Given the description of an element on the screen output the (x, y) to click on. 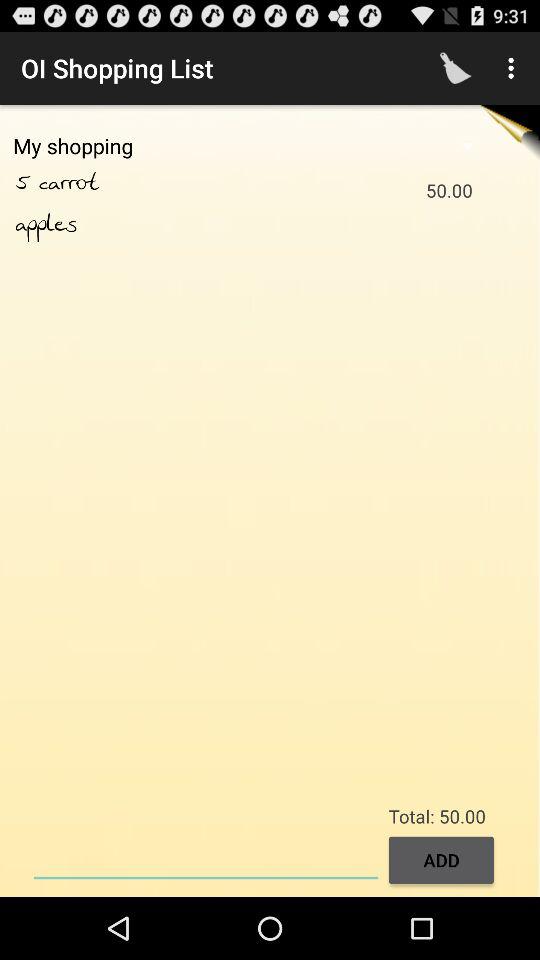
tap the icon to the left of add item (205, 858)
